Given the description of an element on the screen output the (x, y) to click on. 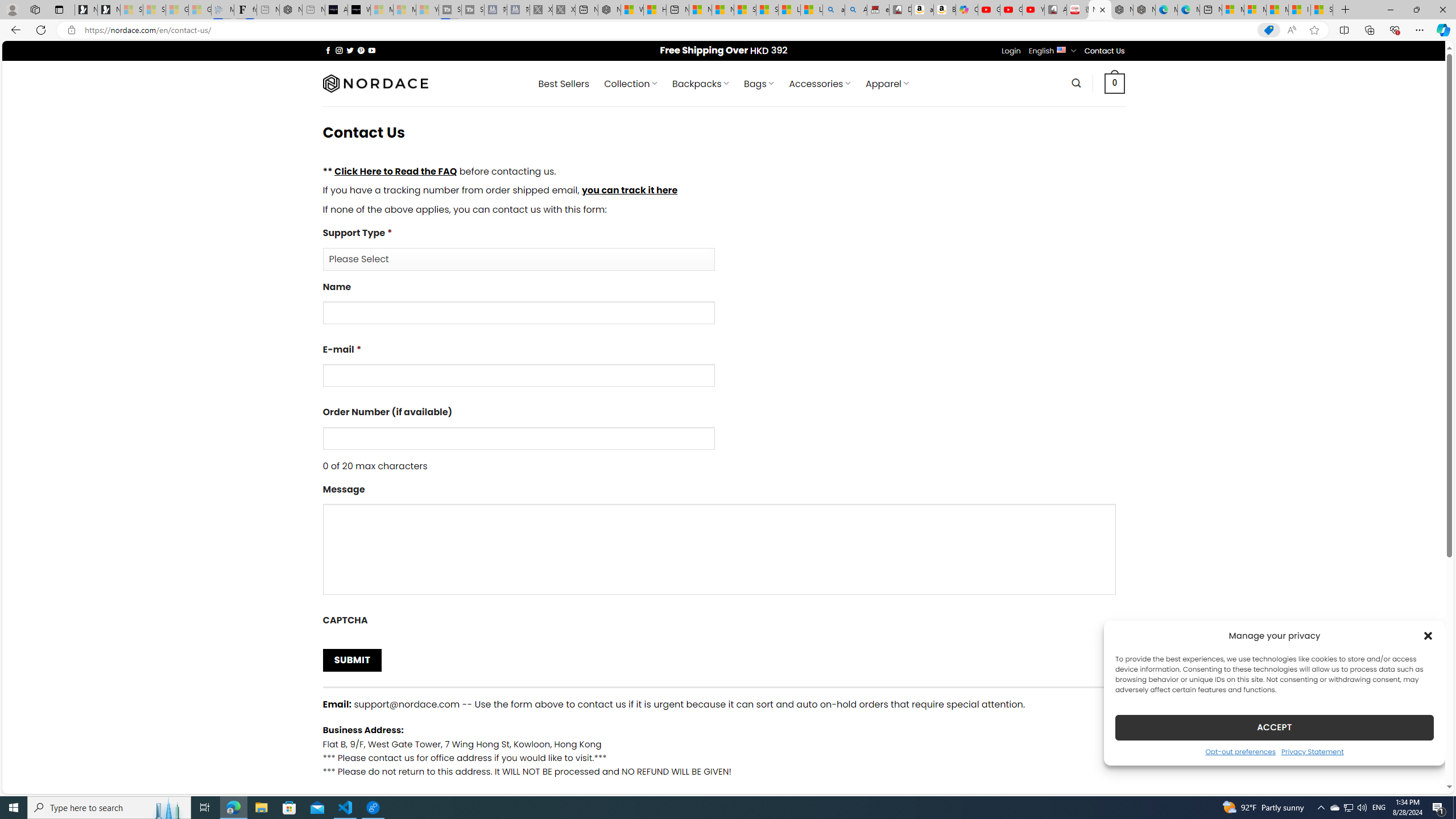
 Best Sellers (563, 83)
E-mail* (723, 369)
  Best Sellers (563, 83)
Name (517, 312)
Support Type* (517, 259)
Click Here to Read the FAQ (395, 170)
